Given the description of an element on the screen output the (x, y) to click on. 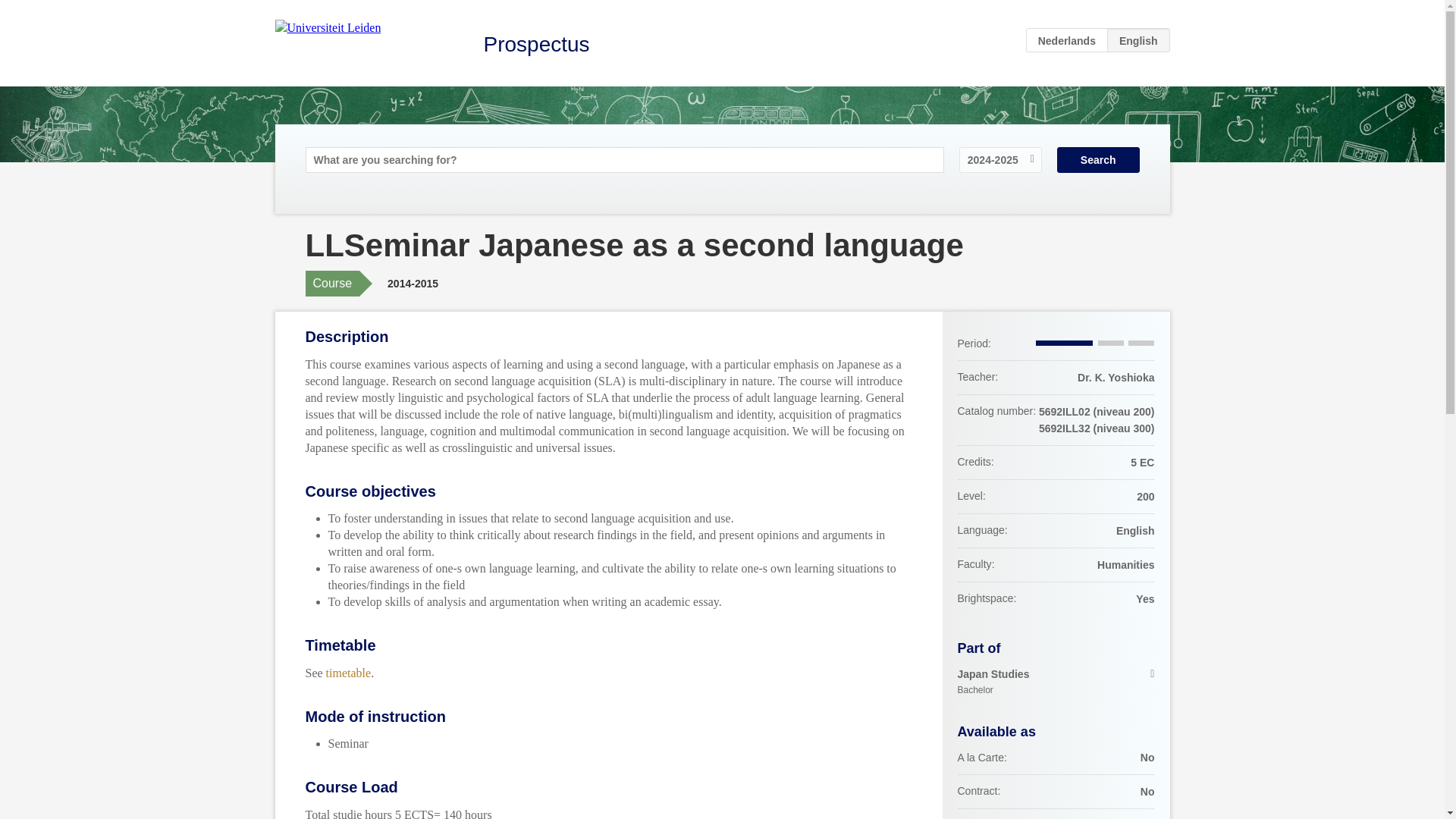
timetable (1055, 682)
Search (348, 671)
NL (1098, 159)
Prospectus (1067, 39)
